Given the description of an element on the screen output the (x, y) to click on. 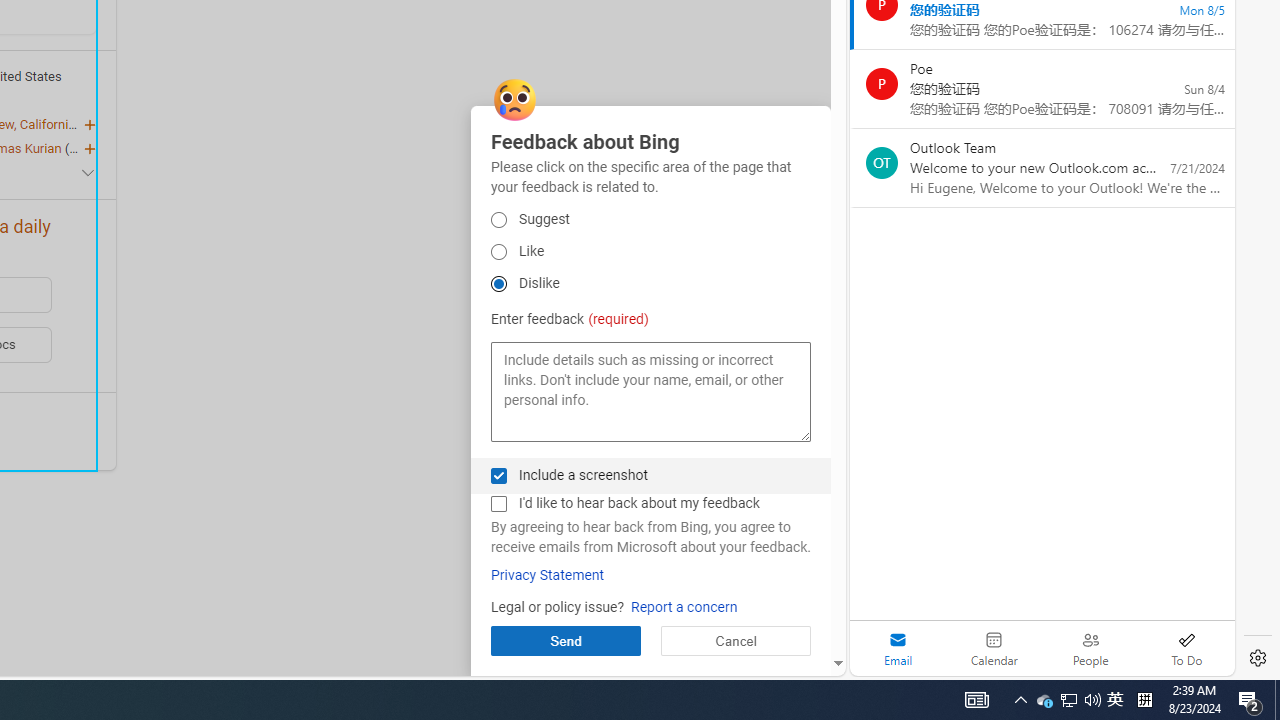
Cancel (735, 640)
Suggest (498, 219)
Send (566, 640)
I'd like to hear back about my feedback (498, 503)
Like (498, 251)
To Do (1186, 648)
Privacy Statement (548, 575)
Report a concern (684, 607)
Selected mail module (898, 648)
Calendar. Date today is 22 (994, 648)
